Given the description of an element on the screen output the (x, y) to click on. 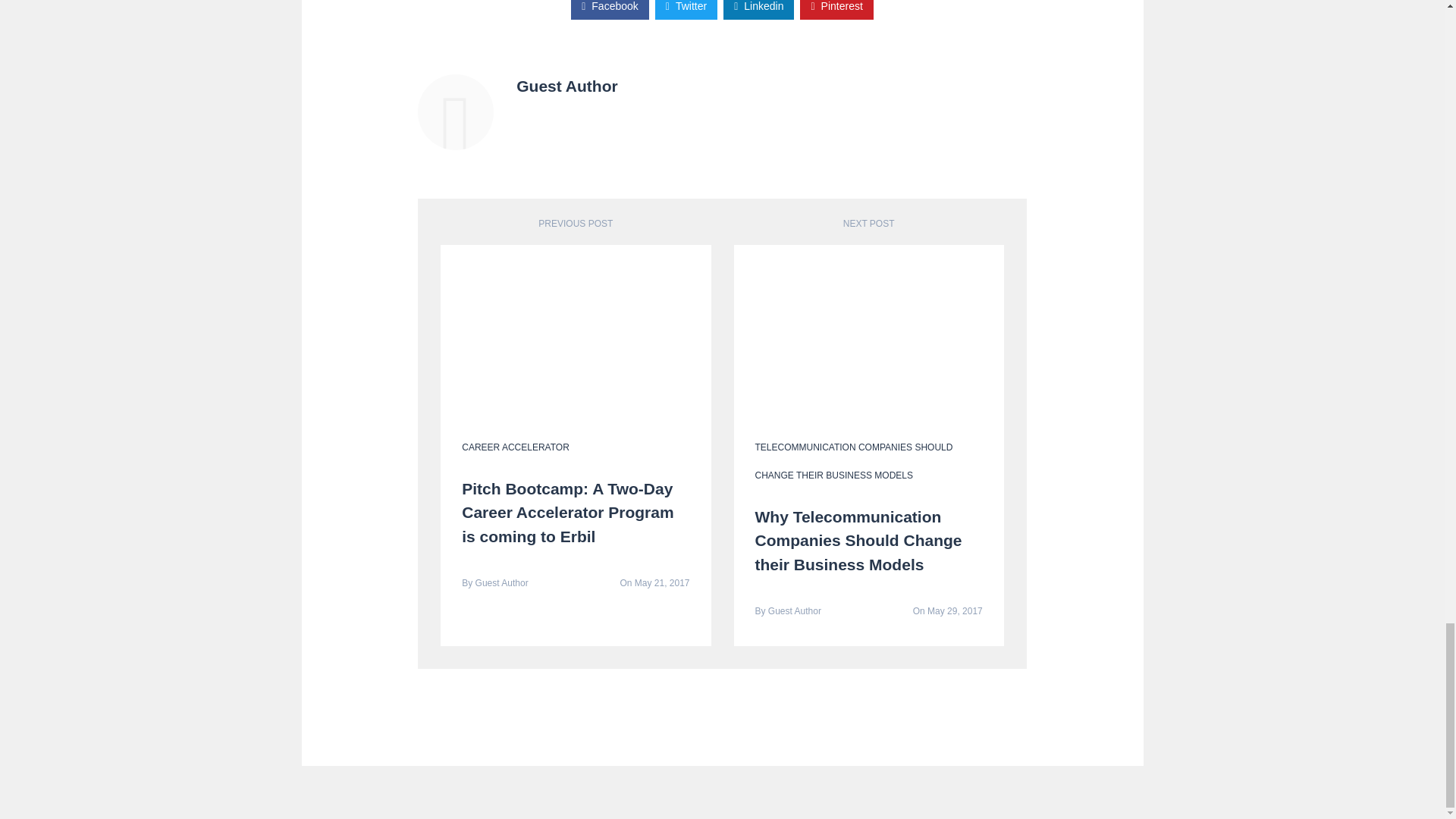
Linkedin (758, 9)
PREVIOUS POST (575, 223)
Share on Linkedin (758, 9)
Twitter (686, 9)
NEXT POST (869, 223)
Share on Pinterest (835, 9)
Guest Author (455, 111)
Guest Author (502, 583)
